Given the description of an element on the screen output the (x, y) to click on. 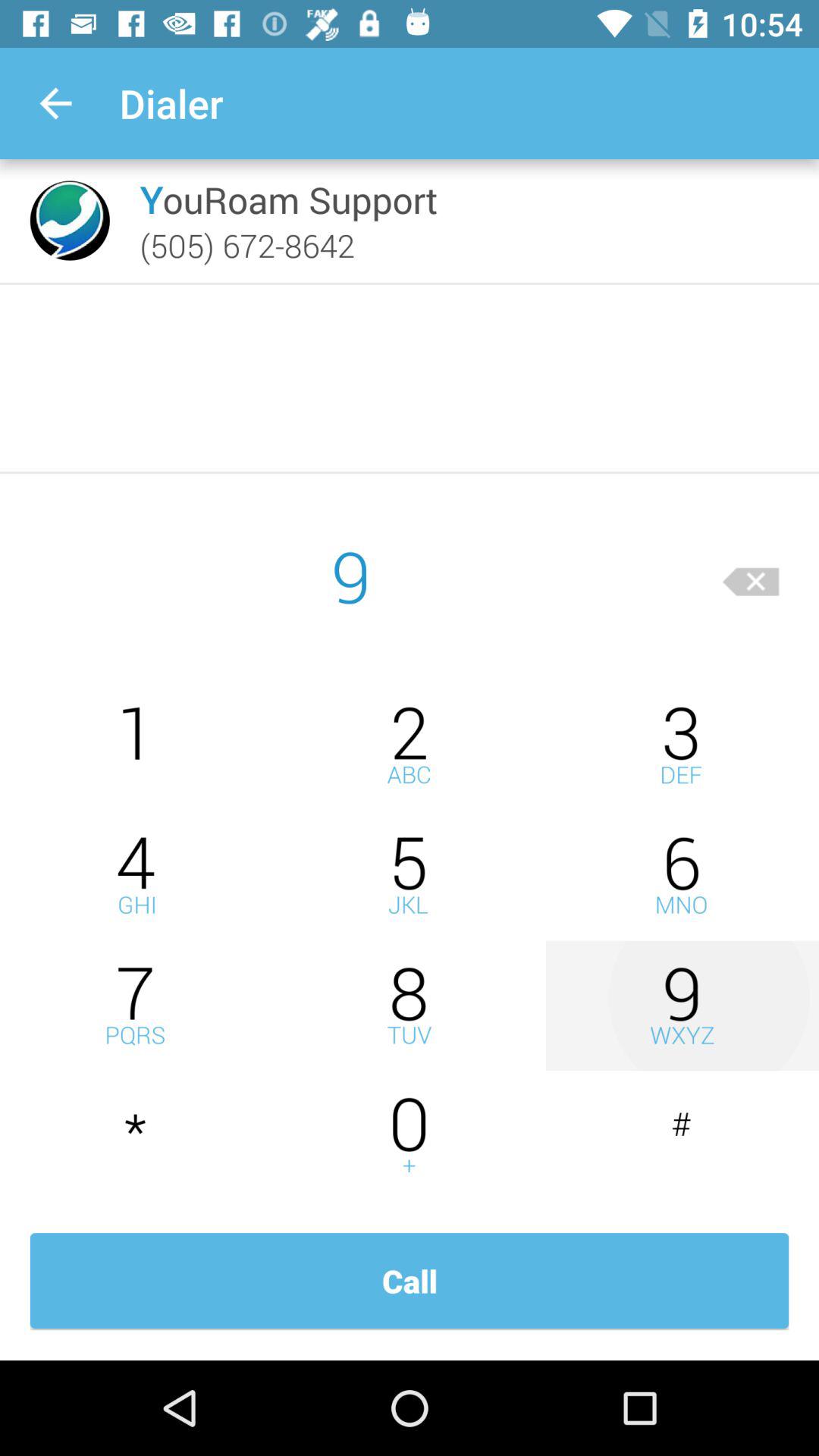
swipe until the (505) 672-8642 icon (246, 245)
